Given the description of an element on the screen output the (x, y) to click on. 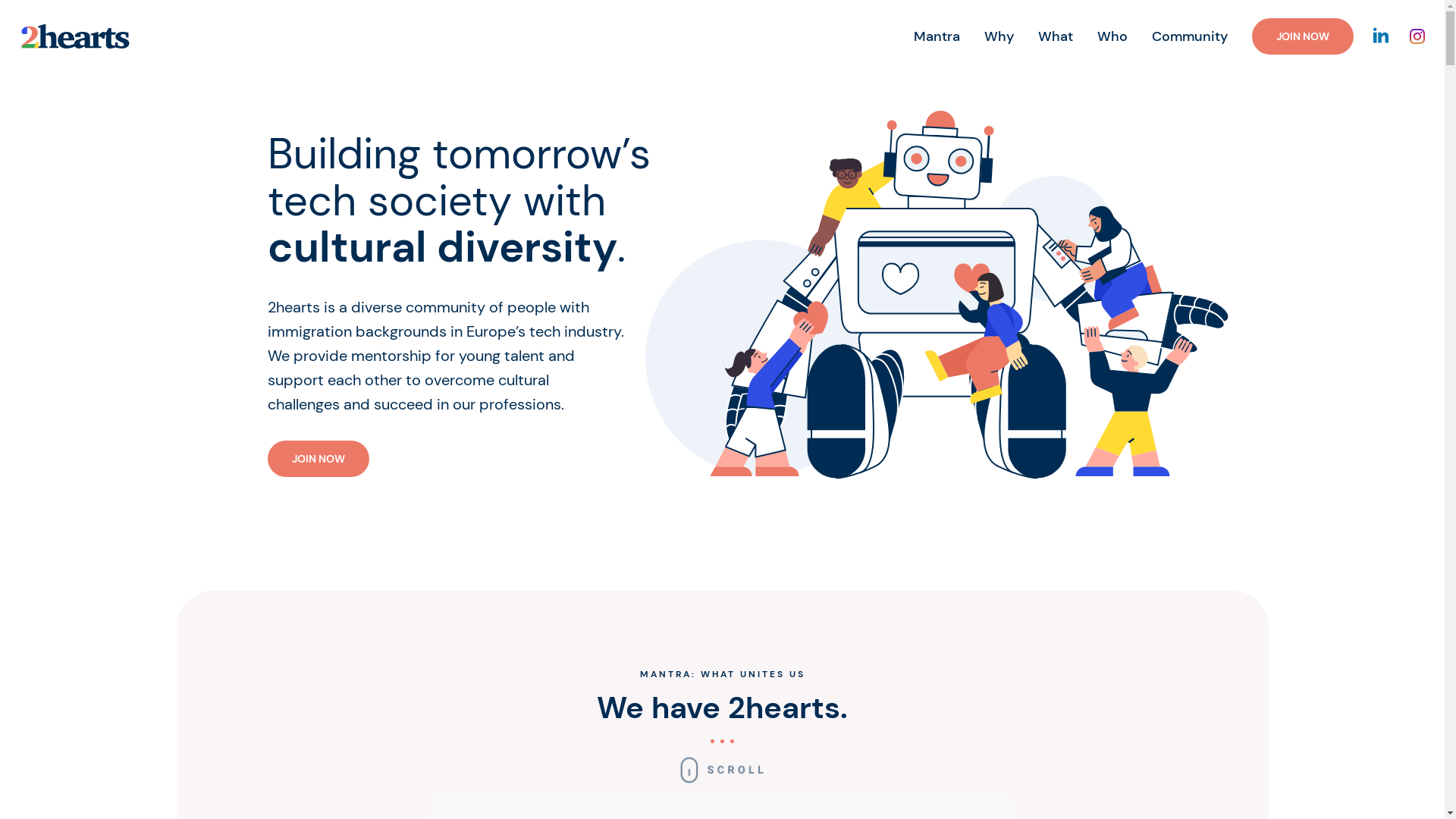
Community Element type: text (1189, 35)
Why Element type: text (998, 35)
Who Element type: text (1112, 35)
JOIN NOW Element type: text (1302, 36)
What Element type: text (1055, 35)
Mantra Element type: text (936, 35)
JOIN NOW Element type: text (317, 458)
